Given the description of an element on the screen output the (x, y) to click on. 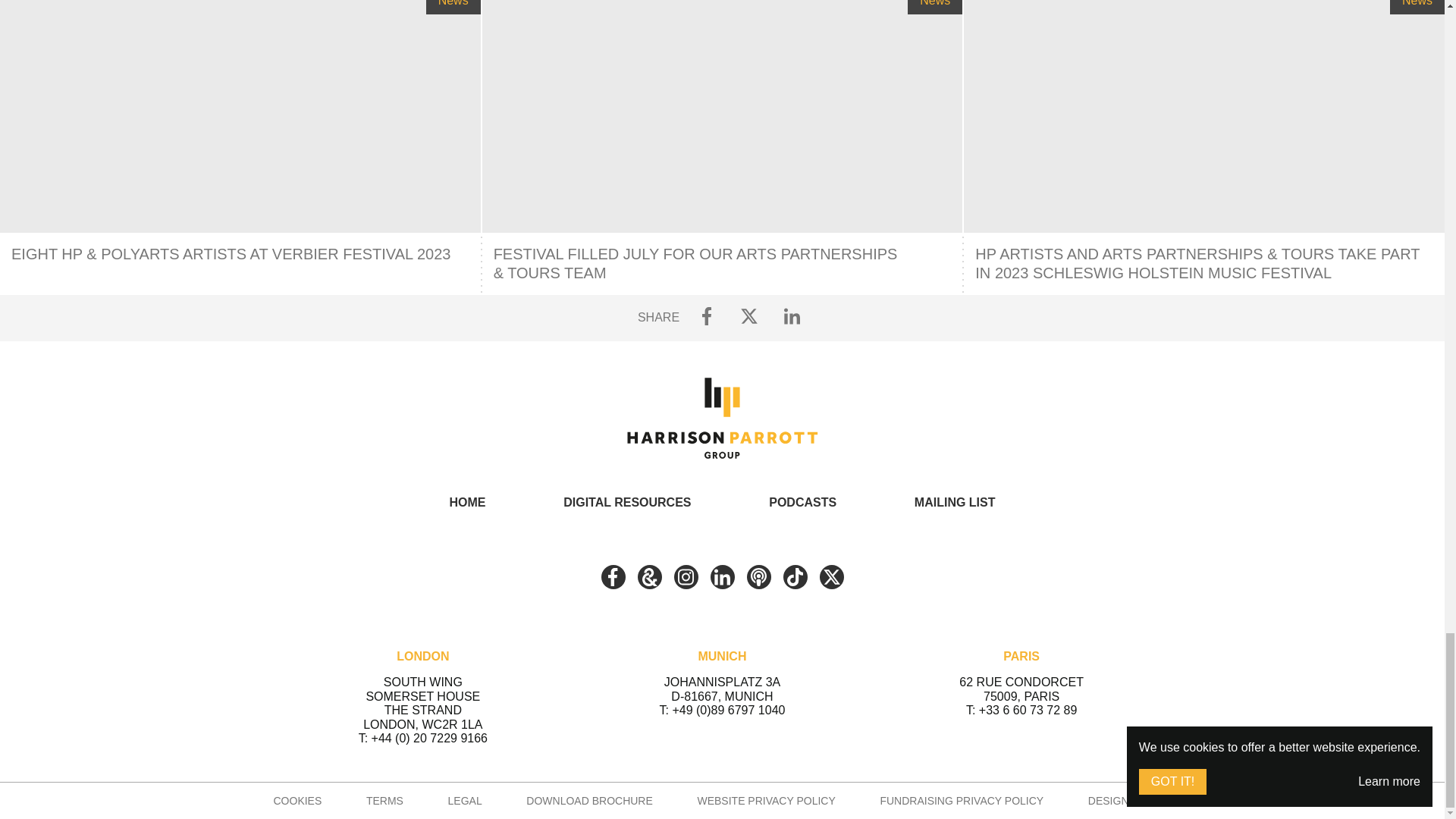
HOME (466, 502)
TikTok (794, 576)
INSTAGRAM (684, 576)
GOOGLE ARTS AND CULTURE (649, 576)
Twitter (830, 576)
Podcast (757, 576)
Facebook (611, 576)
PODCASTS (801, 502)
Google Arts and Culture (649, 576)
Instagram (684, 576)
